Given the description of an element on the screen output the (x, y) to click on. 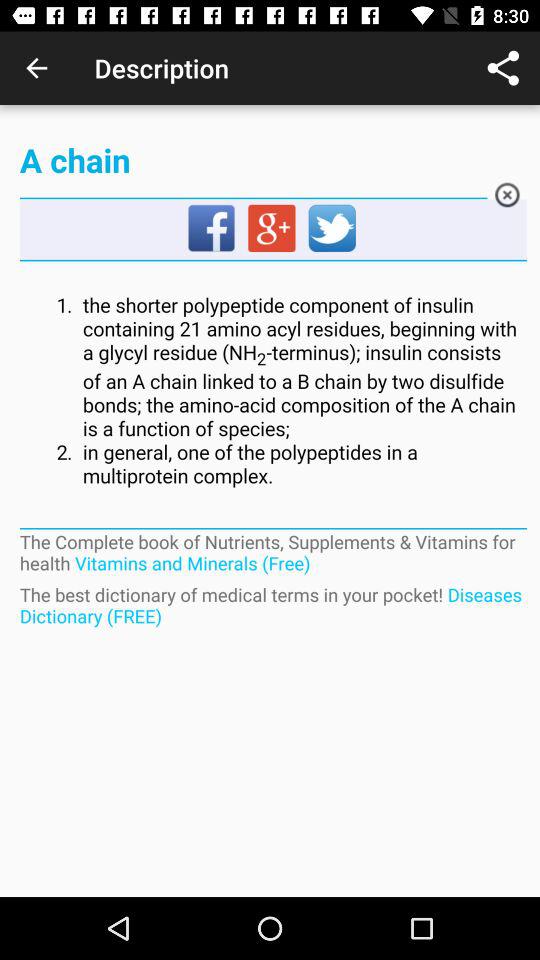
view description (272, 391)
